Given the description of an element on the screen output the (x, y) to click on. 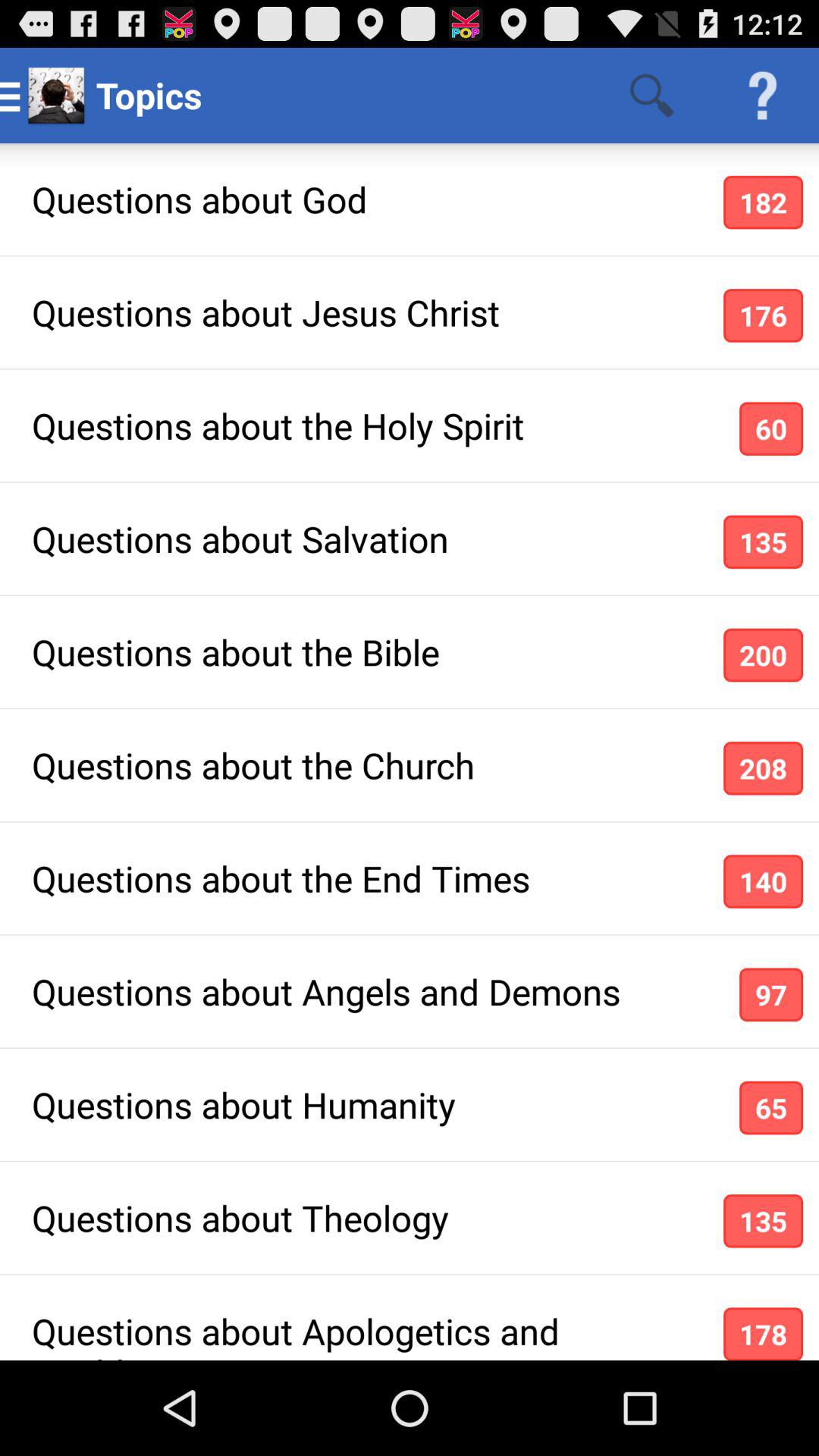
open 176 item (763, 315)
